Given the description of an element on the screen output the (x, y) to click on. 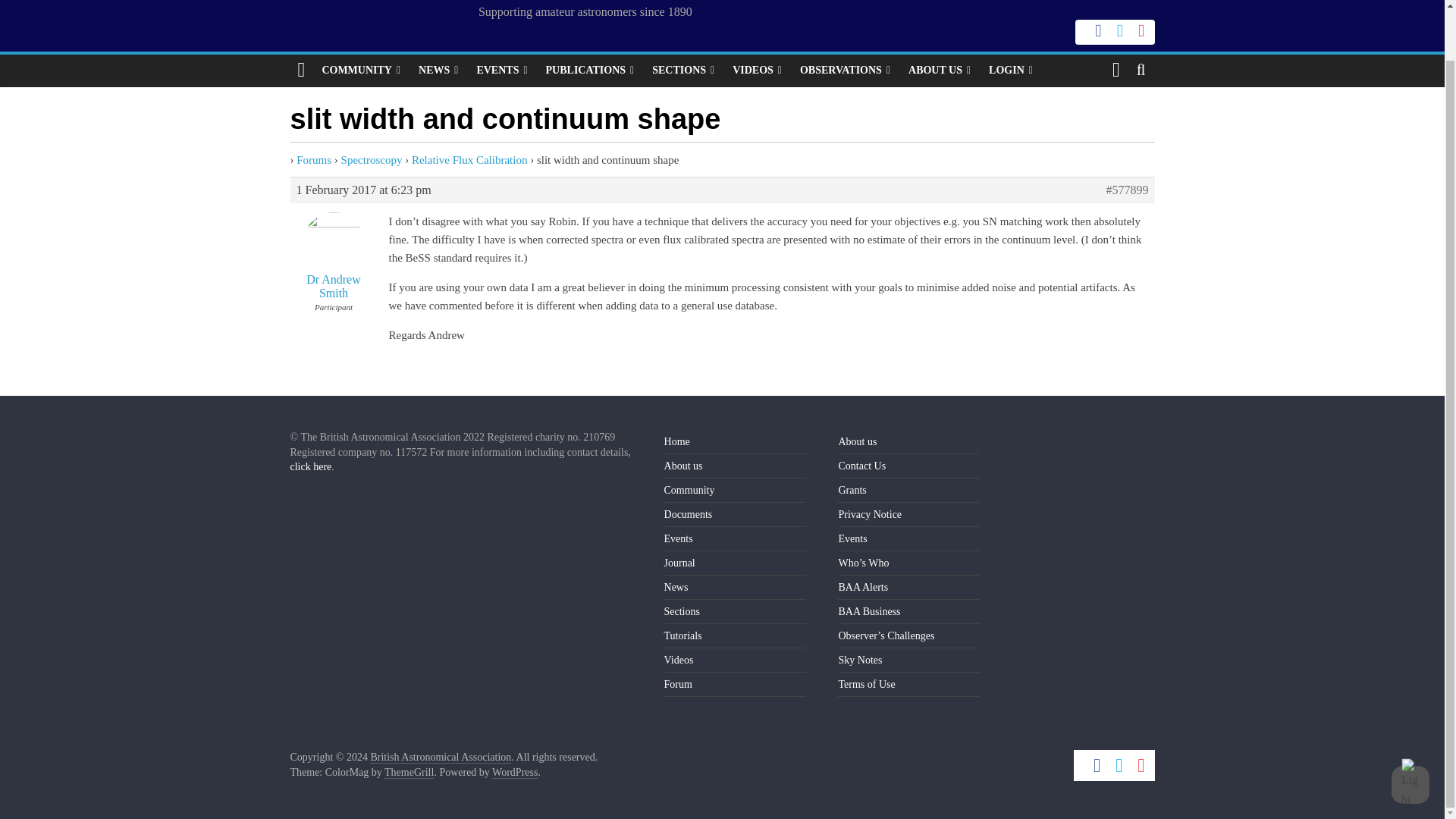
View Dr Andrew Smith's profile (333, 251)
NEWS (438, 70)
PUBLICATIONS (590, 70)
WordPress (514, 772)
British Astronomical Association (440, 757)
COMMUNITY (361, 70)
ThemeGrill (408, 772)
EVENTS (501, 70)
SECTIONS (683, 70)
